Given the description of an element on the screen output the (x, y) to click on. 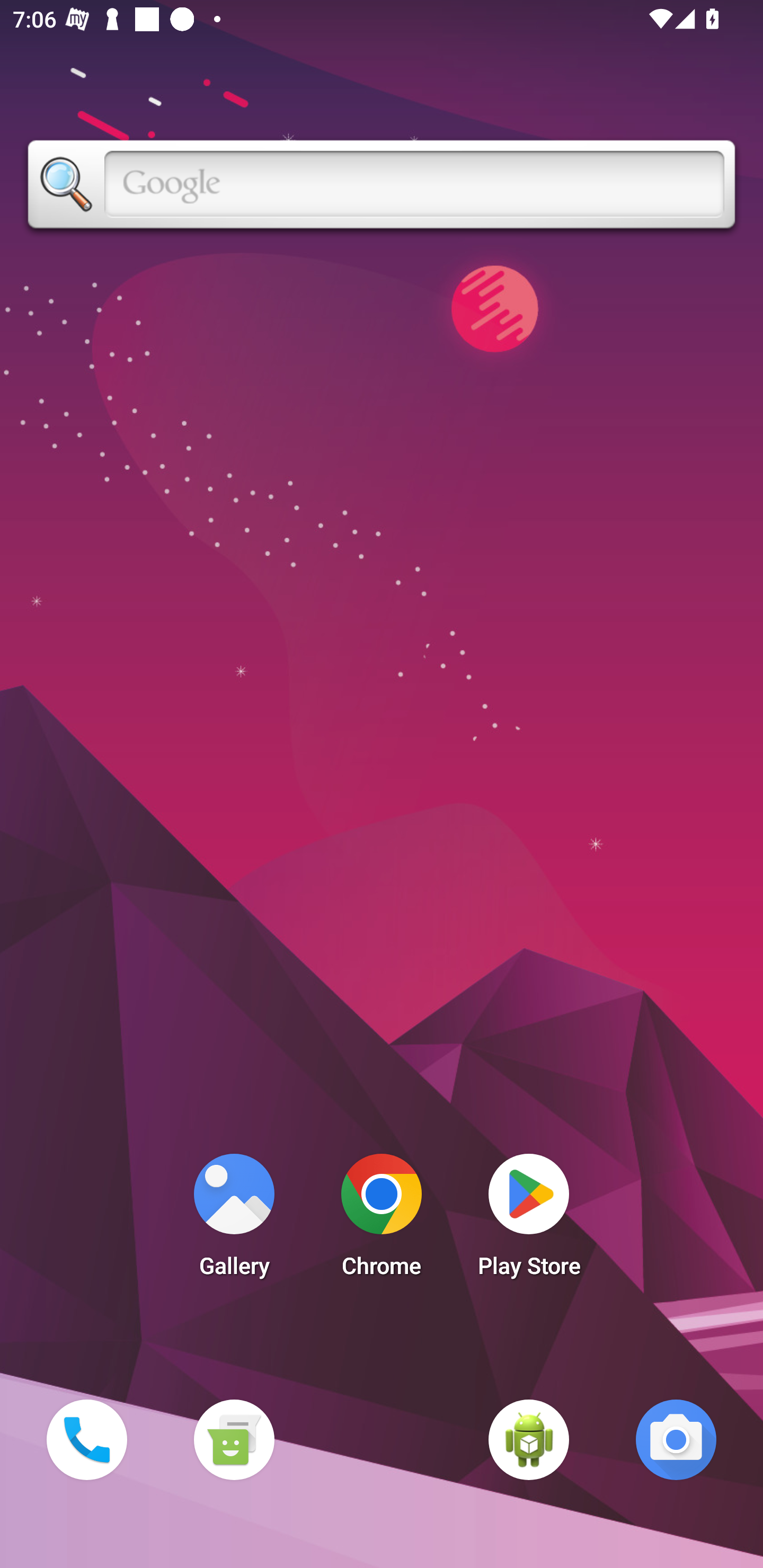
Gallery (233, 1220)
Chrome (381, 1220)
Play Store (528, 1220)
Phone (86, 1439)
Messaging (233, 1439)
WebView Browser Tester (528, 1439)
Camera (676, 1439)
